Given the description of an element on the screen output the (x, y) to click on. 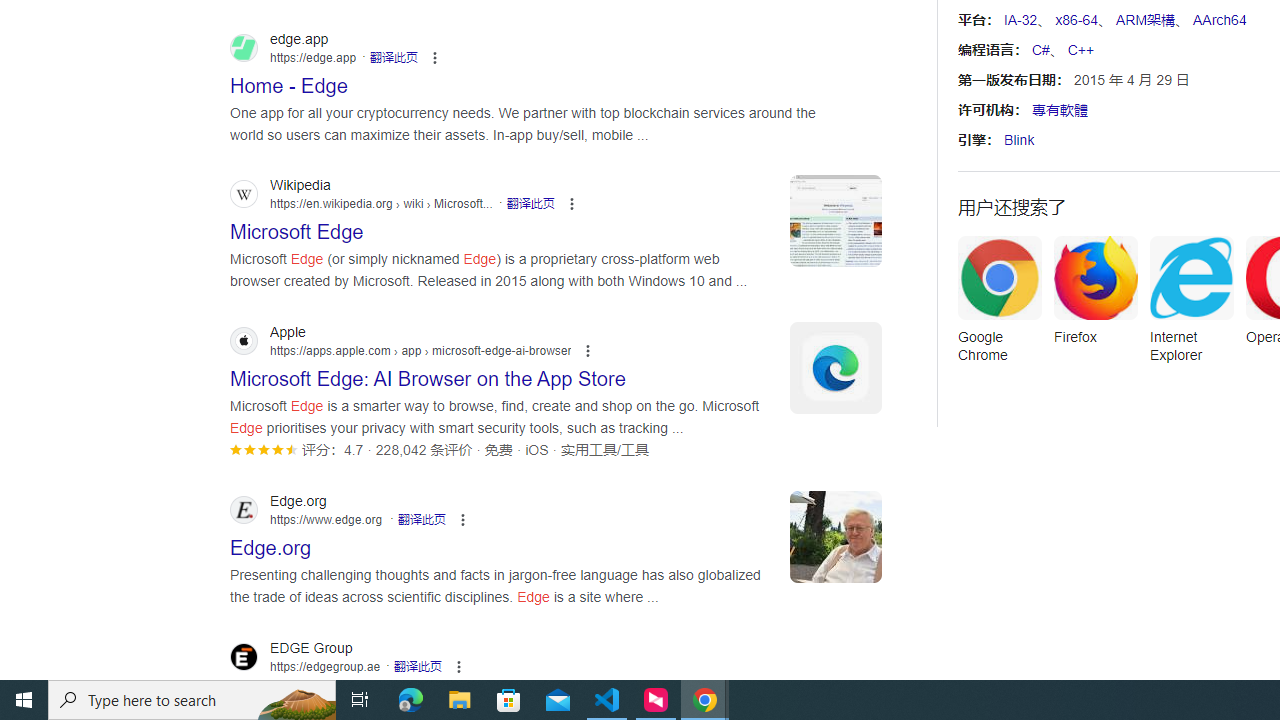
x86-64 (1076, 20)
C# (1039, 49)
AArch64 (1218, 20)
Google Chrome (999, 305)
Internet Explorer (1191, 305)
IA-32 (1020, 20)
 Home - Edge edge.app https://edge.app (289, 80)
